Given the description of an element on the screen output the (x, y) to click on. 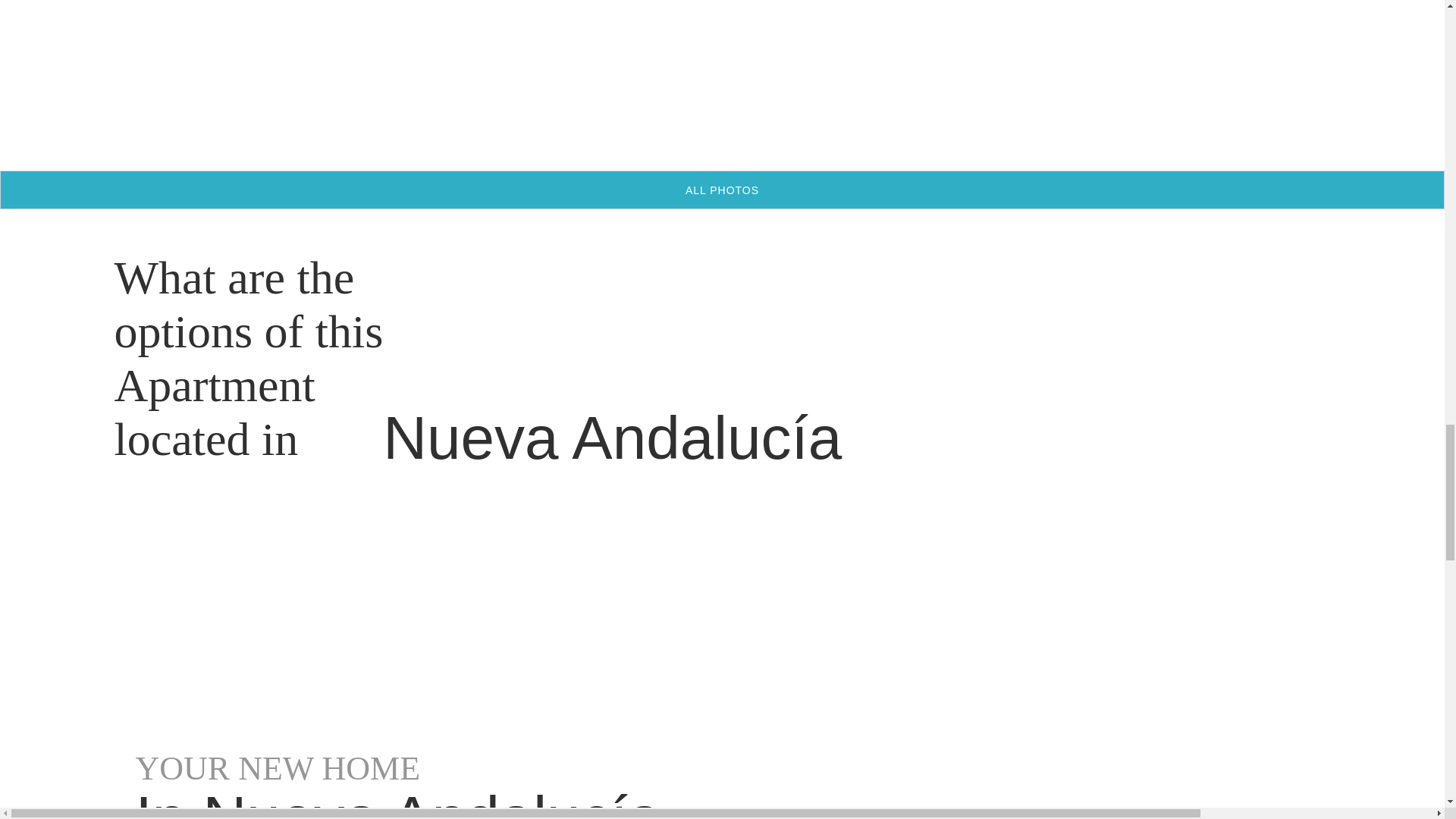
ALL PHOTOS (722, 189)
